Given the description of an element on the screen output the (x, y) to click on. 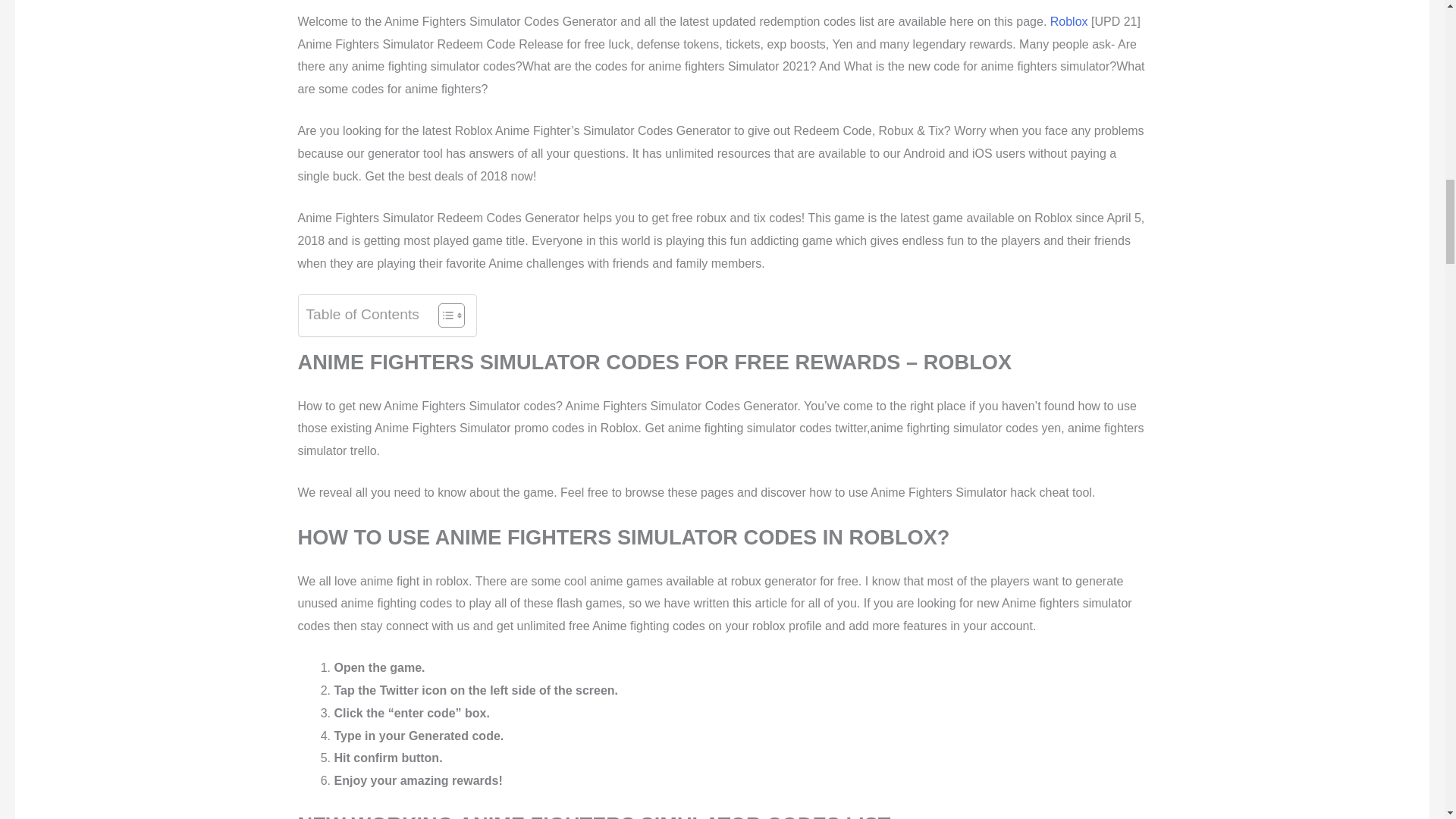
Roblox (1068, 21)
